Given the description of an element on the screen output the (x, y) to click on. 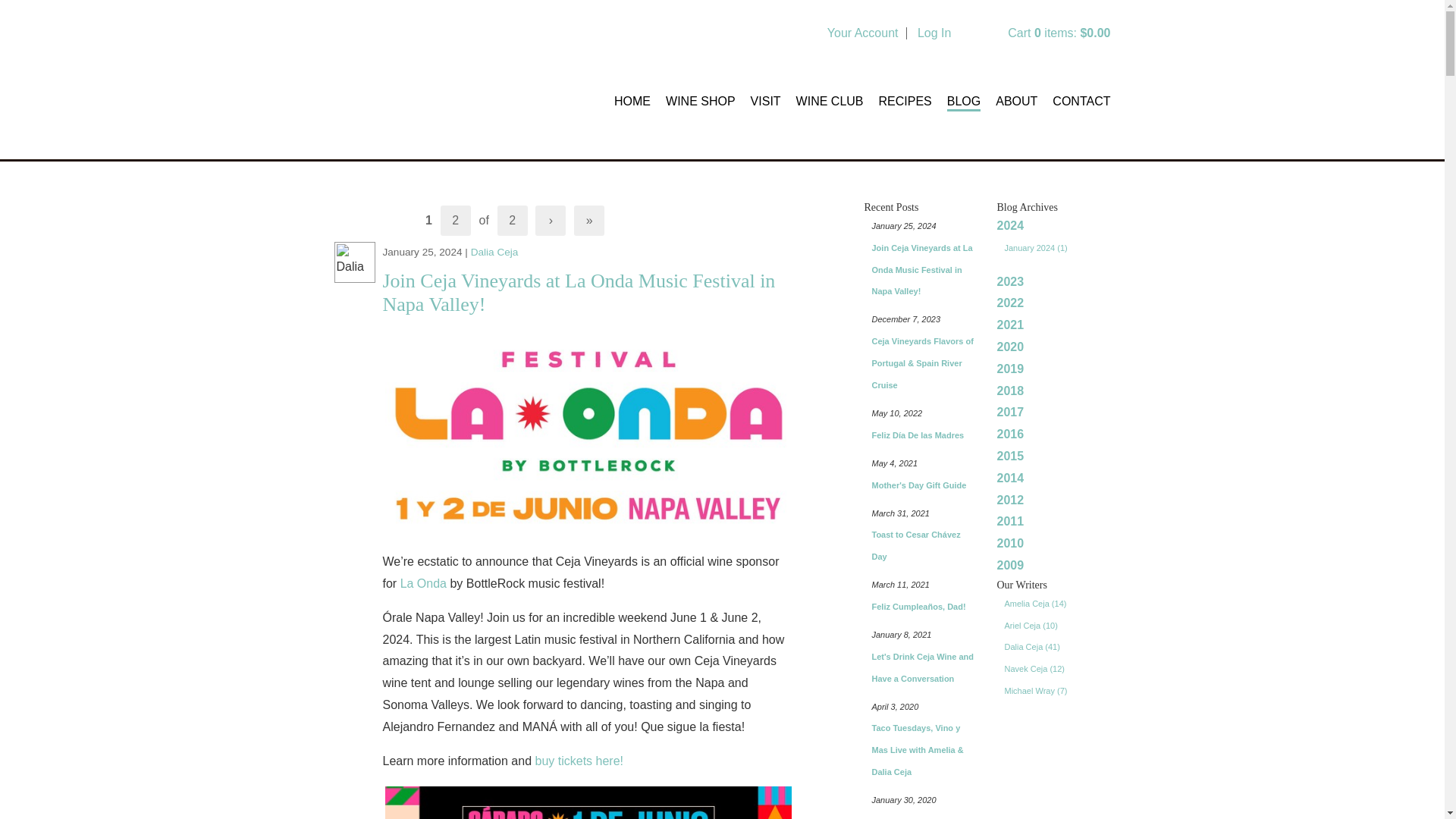
CONTACT (1080, 98)
Ceja Vineyards (431, 83)
Log In (933, 32)
WINE SHOP (700, 98)
WINE CLUB (829, 98)
ABOUT (1015, 98)
RECIPES (905, 98)
Your Account (862, 32)
HOME (632, 98)
La Onda (423, 583)
